Given the description of an element on the screen output the (x, y) to click on. 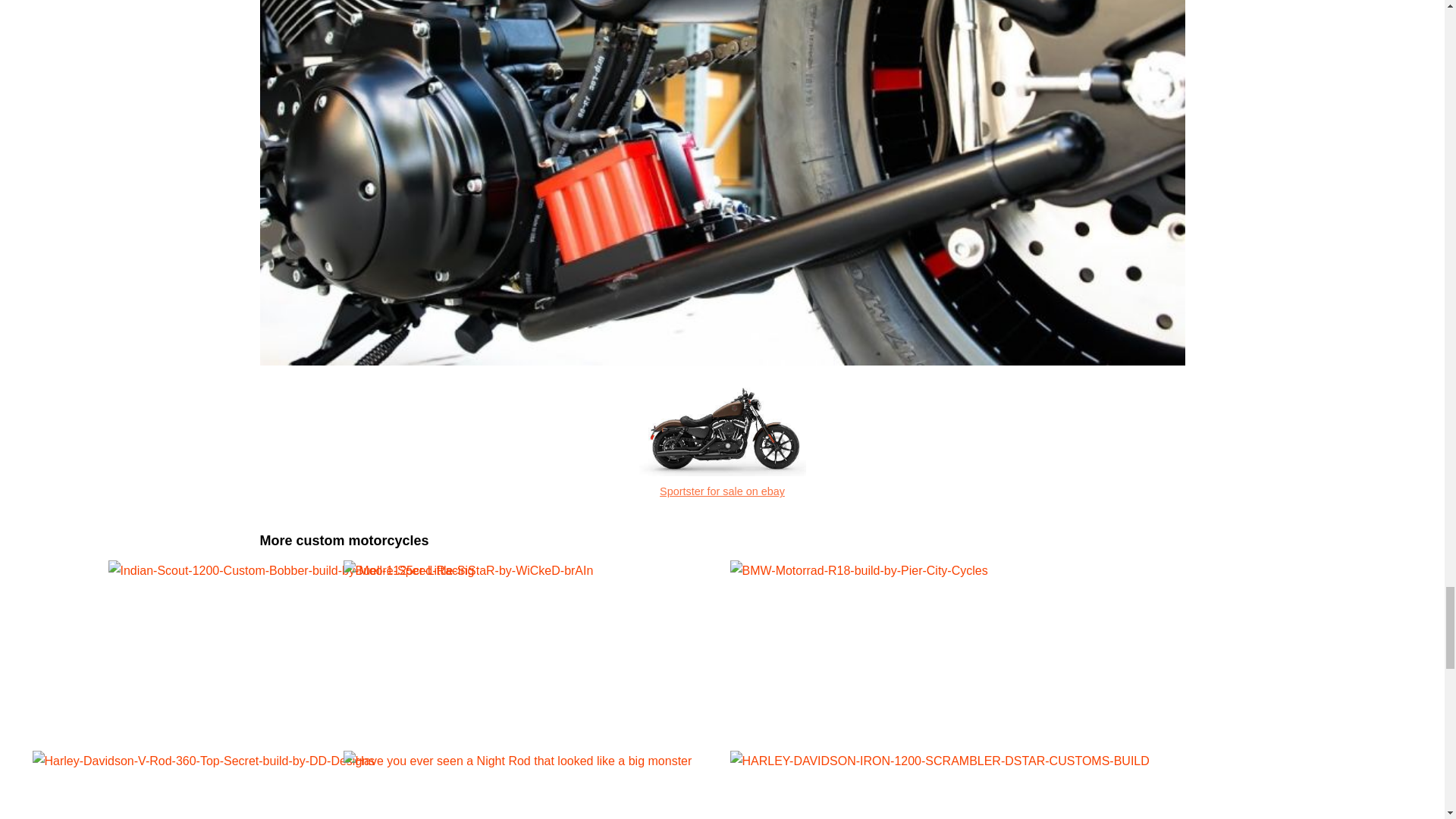
Harley-Davidson V-Rod 360 'Top Secret' build by DD Designs (411, 785)
